Given the description of an element on the screen output the (x, y) to click on. 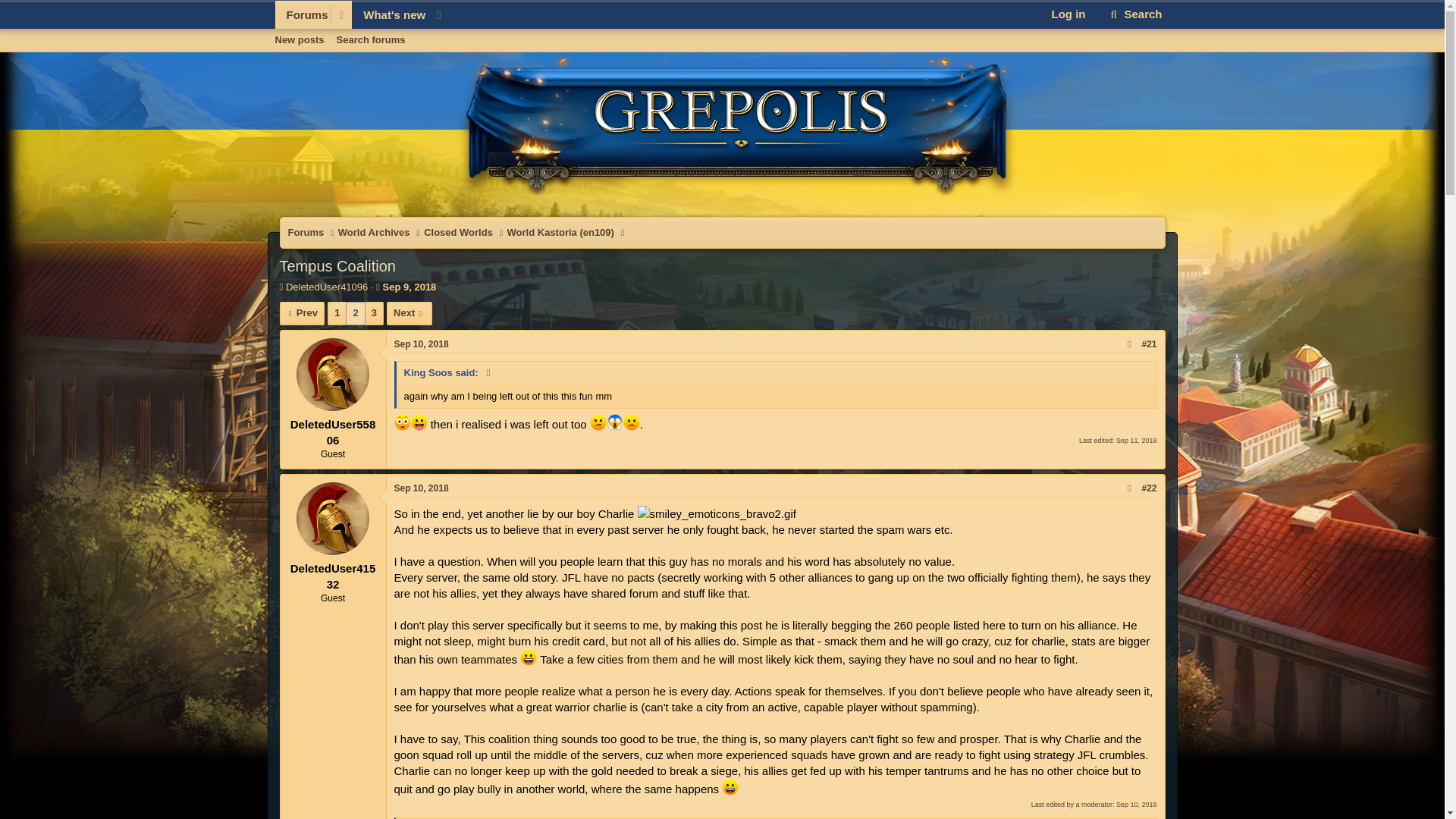
Search forums (371, 39)
Oops!    :oops: (402, 422)
Sep 10, 2018 at 5:51 PM (421, 344)
Prev (361, 31)
Stick Out Tongue    :p (301, 313)
Search (419, 422)
Sep 10, 2018 at 11:12 PM (1134, 14)
Forums (421, 488)
Closed Worlds (302, 14)
Sep 9, 2018 (458, 232)
Search (409, 286)
New posts (720, 56)
Log in (1134, 14)
